Given the description of an element on the screen output the (x, y) to click on. 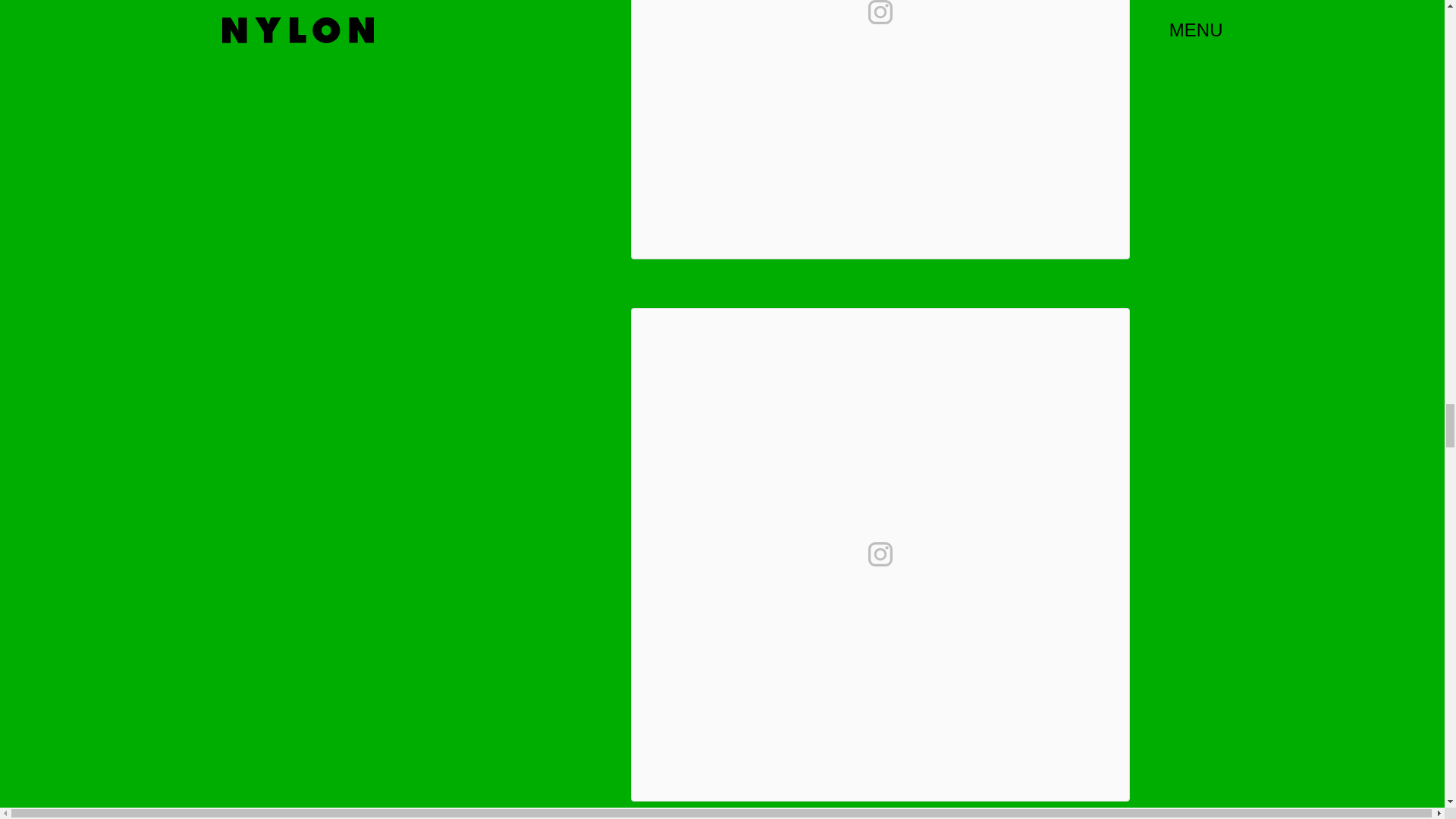
View on Instagram (879, 15)
View on Instagram (879, 554)
